Given the description of an element on the screen output the (x, y) to click on. 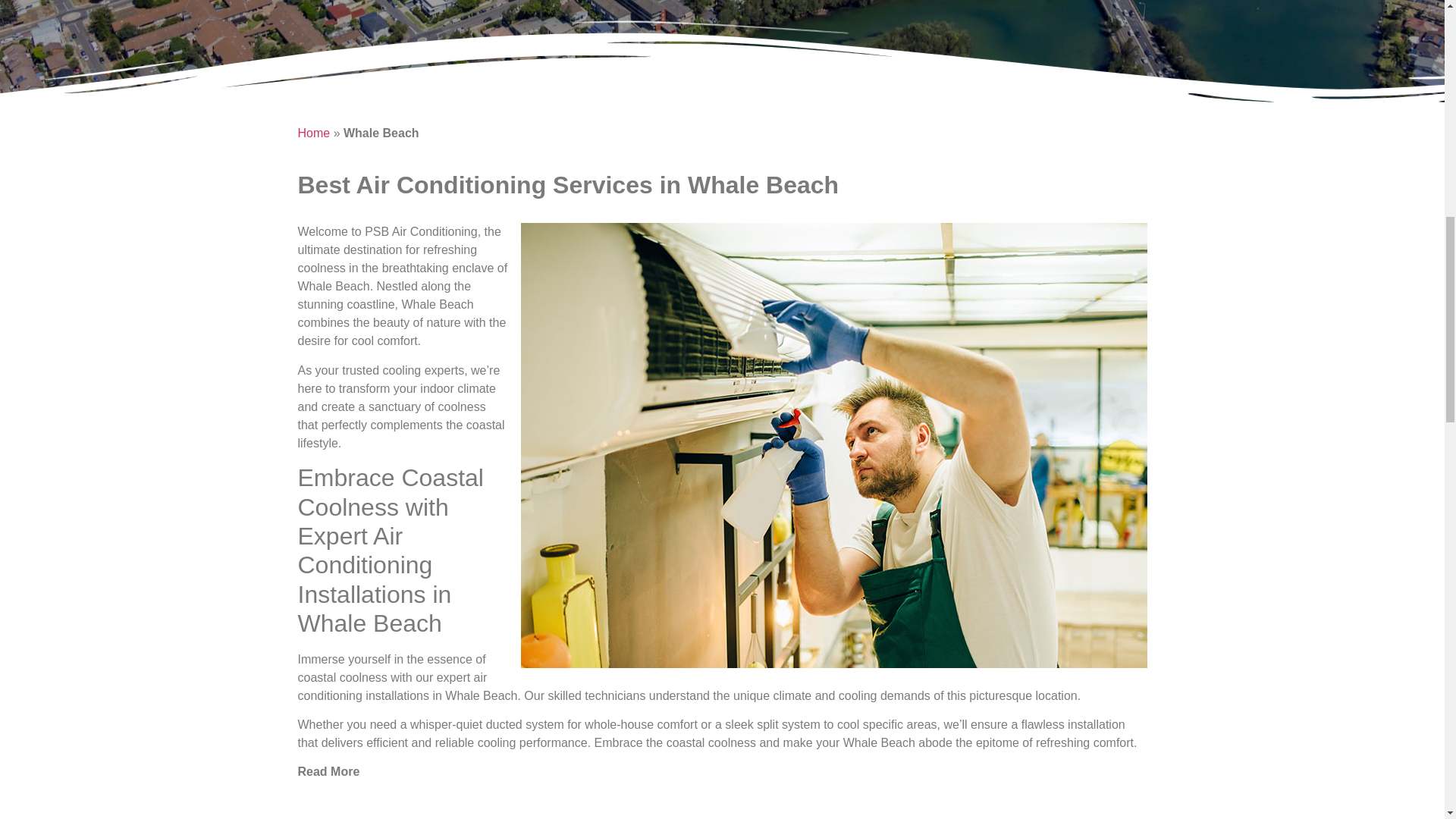
Home (313, 132)
